Given the description of an element on the screen output the (x, y) to click on. 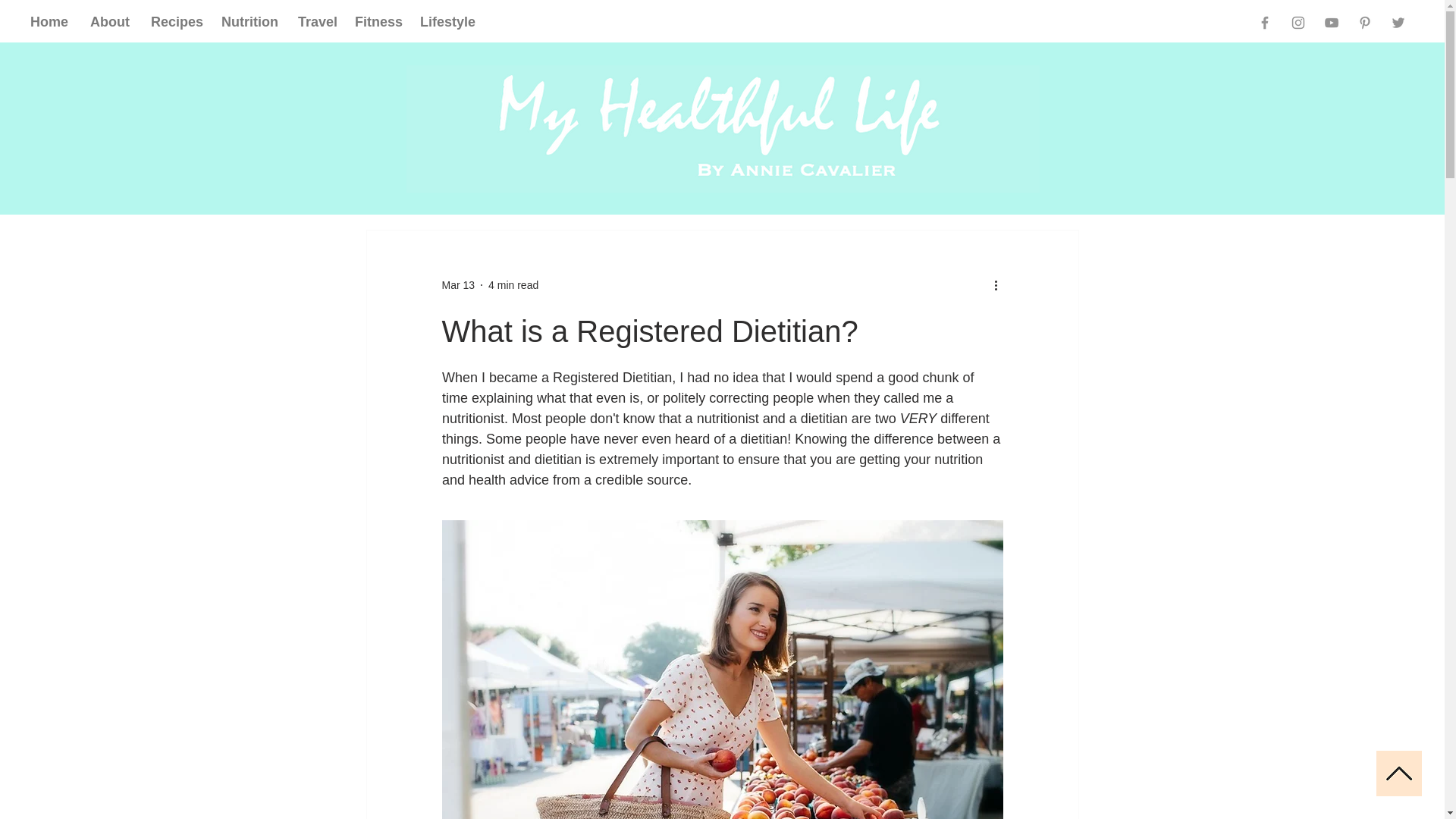
Nutrition (247, 21)
4 min read (512, 285)
Lifestyle (444, 21)
Travel (314, 21)
Mar 13 (457, 285)
Home (48, 21)
About (108, 21)
Recipes (174, 21)
Fitness (376, 21)
